Given the description of an element on the screen output the (x, y) to click on. 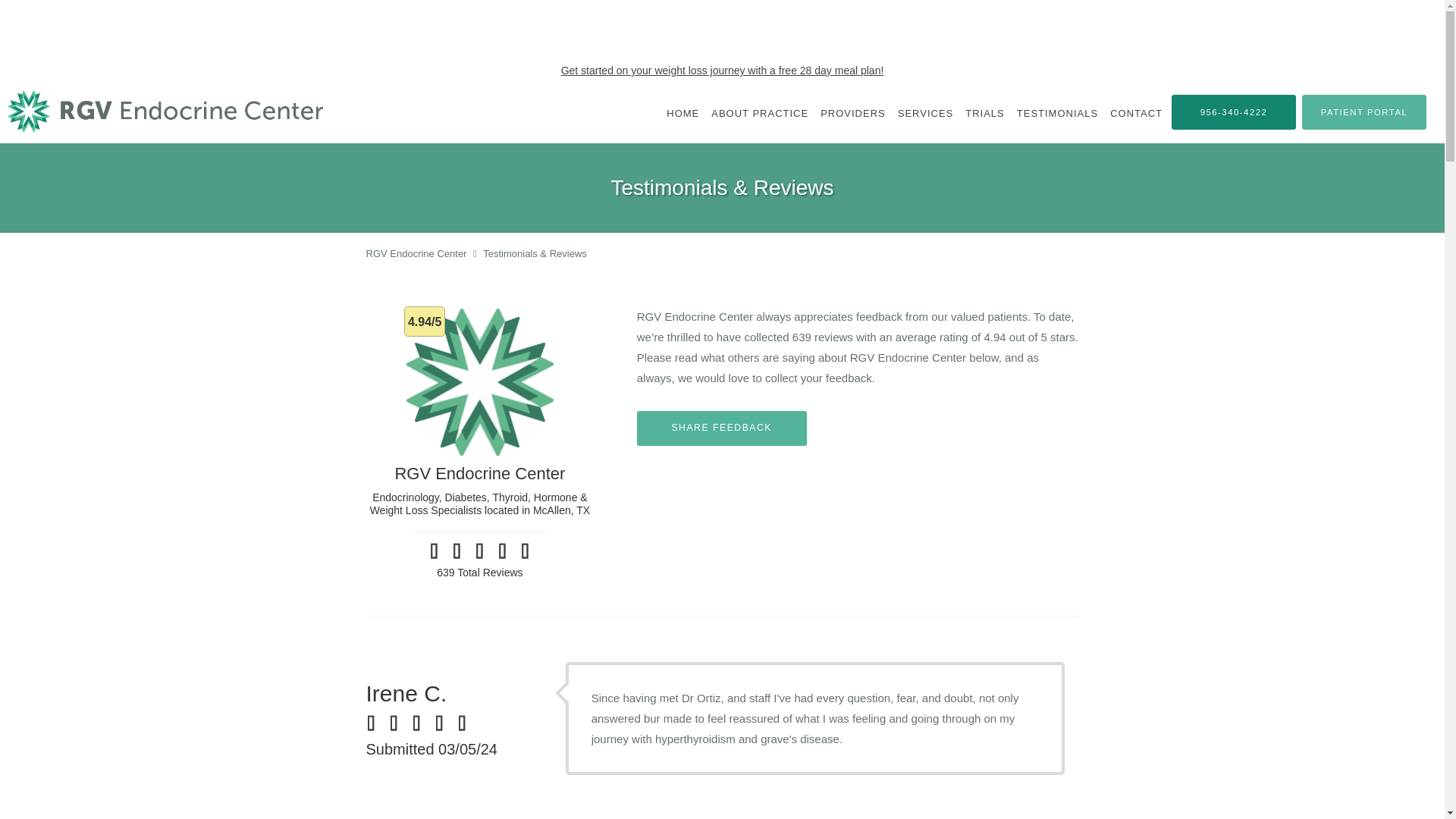
Share Feedback (721, 428)
Star Rating (399, 722)
Star Rating (434, 550)
Star Rating (479, 550)
CONTACT (1136, 112)
Star Rating (444, 722)
Star Rating (502, 550)
Skip to main content (74, 89)
ABOUT PRACTICE (758, 112)
Star Rating (467, 722)
Star Rating (456, 550)
956-340-4222 (1233, 112)
Star Rating (422, 722)
Star Rating (525, 550)
